Given the description of an element on the screen output the (x, y) to click on. 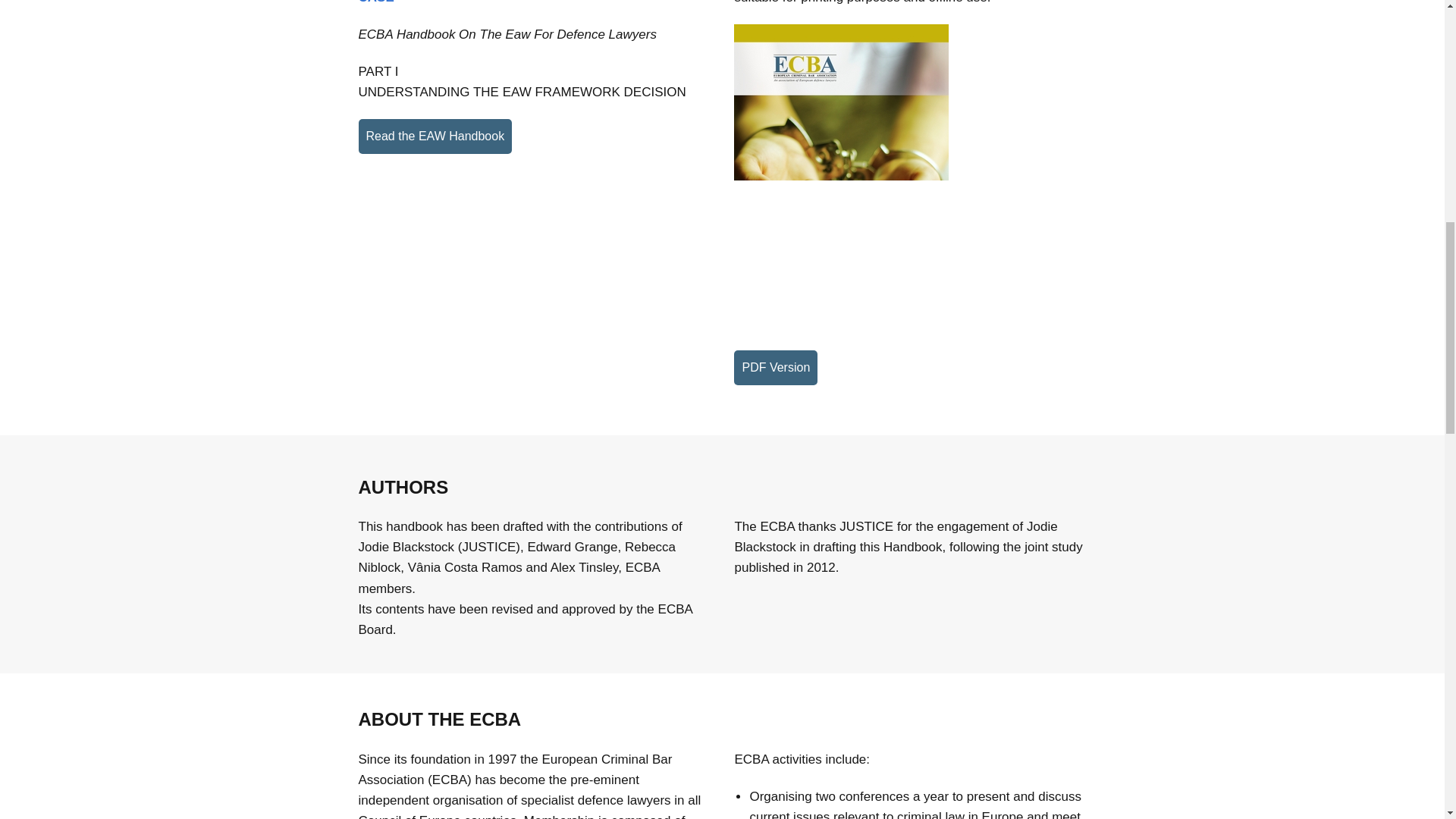
PDF Version (774, 367)
Read the EAW Handbook (435, 135)
HOW TO DEFEND A EUROPEAN ARREST WARRANT CASE (519, 2)
